Given the description of an element on the screen output the (x, y) to click on. 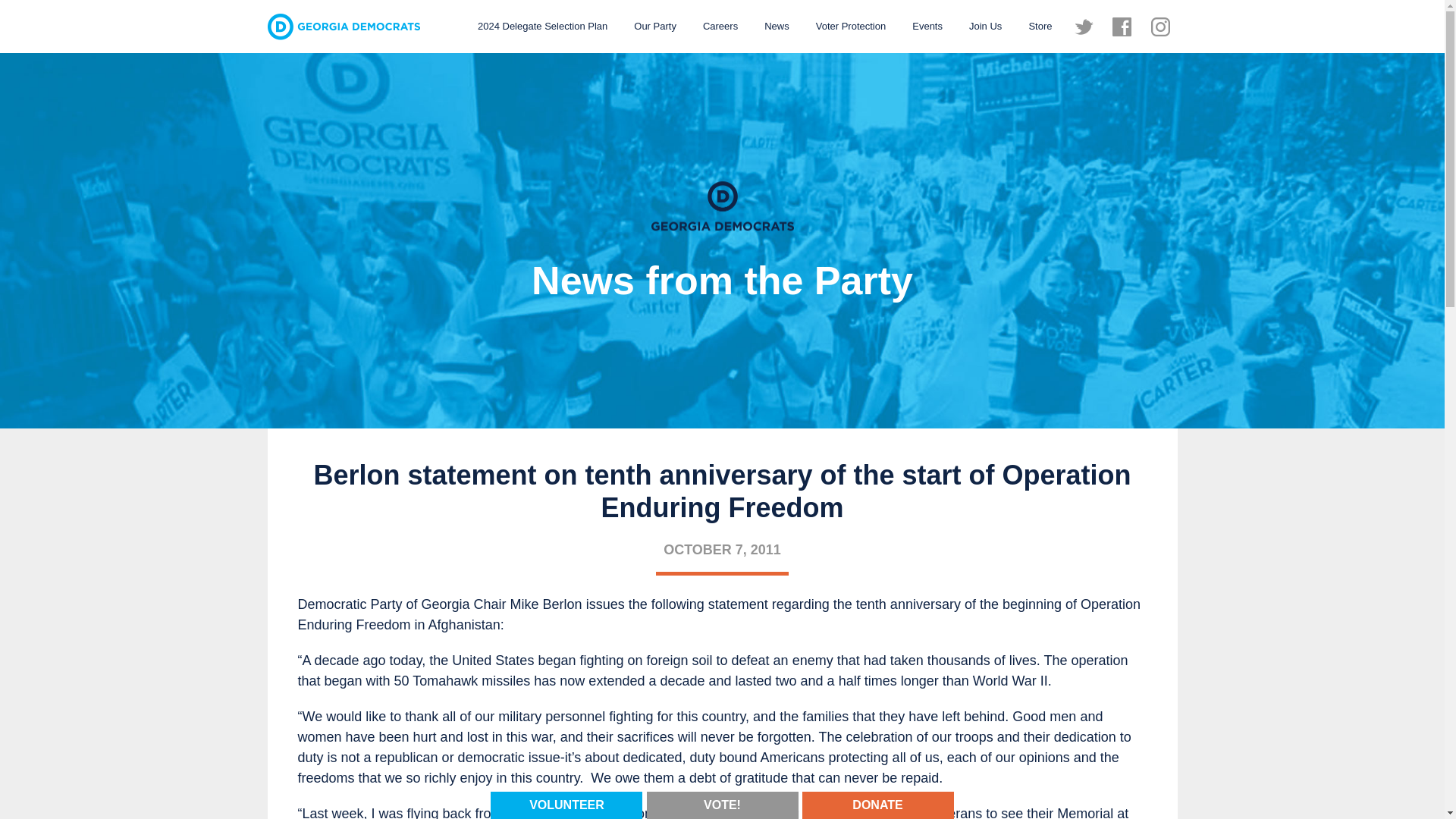
DEMOCRATIC PARTY OF GEORGIA (342, 26)
Events (927, 25)
DONATE (877, 805)
VOTE! (721, 805)
DONATE (877, 804)
VOTE! (721, 804)
Join Us (985, 25)
VOLUNTEER (566, 804)
Store (1039, 25)
Careers (720, 25)
